Given the description of an element on the screen output the (x, y) to click on. 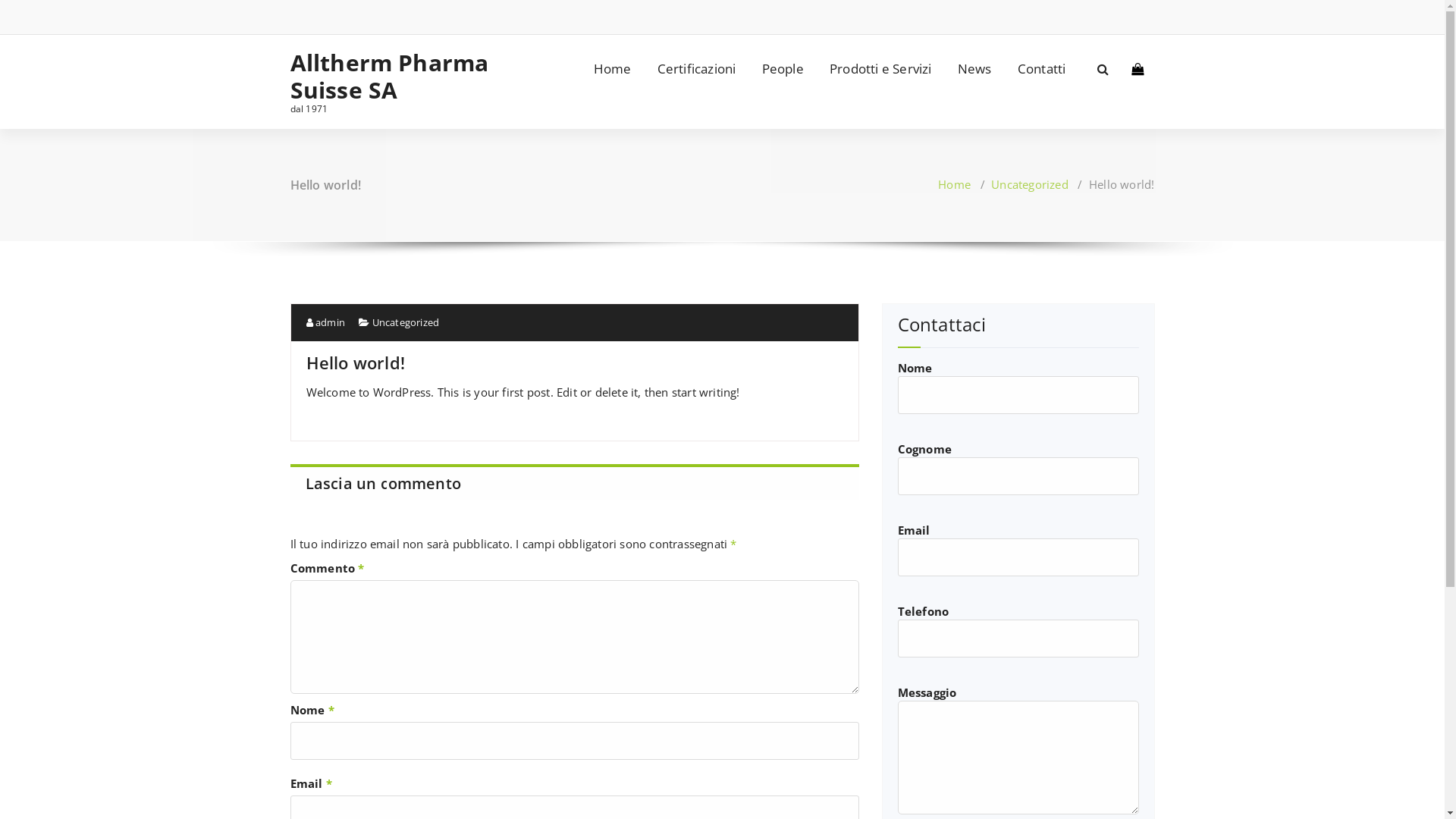
Home Element type: text (954, 183)
Uncategorized Element type: text (405, 322)
Home Element type: text (612, 68)
Contatti Element type: text (1041, 68)
Certificazioni Element type: text (696, 68)
Uncategorized Element type: text (1029, 183)
Alltherm Pharma Suisse SA Element type: text (389, 76)
admin Element type: text (325, 322)
People Element type: text (782, 68)
Prodotti e Servizi Element type: text (880, 68)
News Element type: text (974, 68)
